Given the description of an element on the screen output the (x, y) to click on. 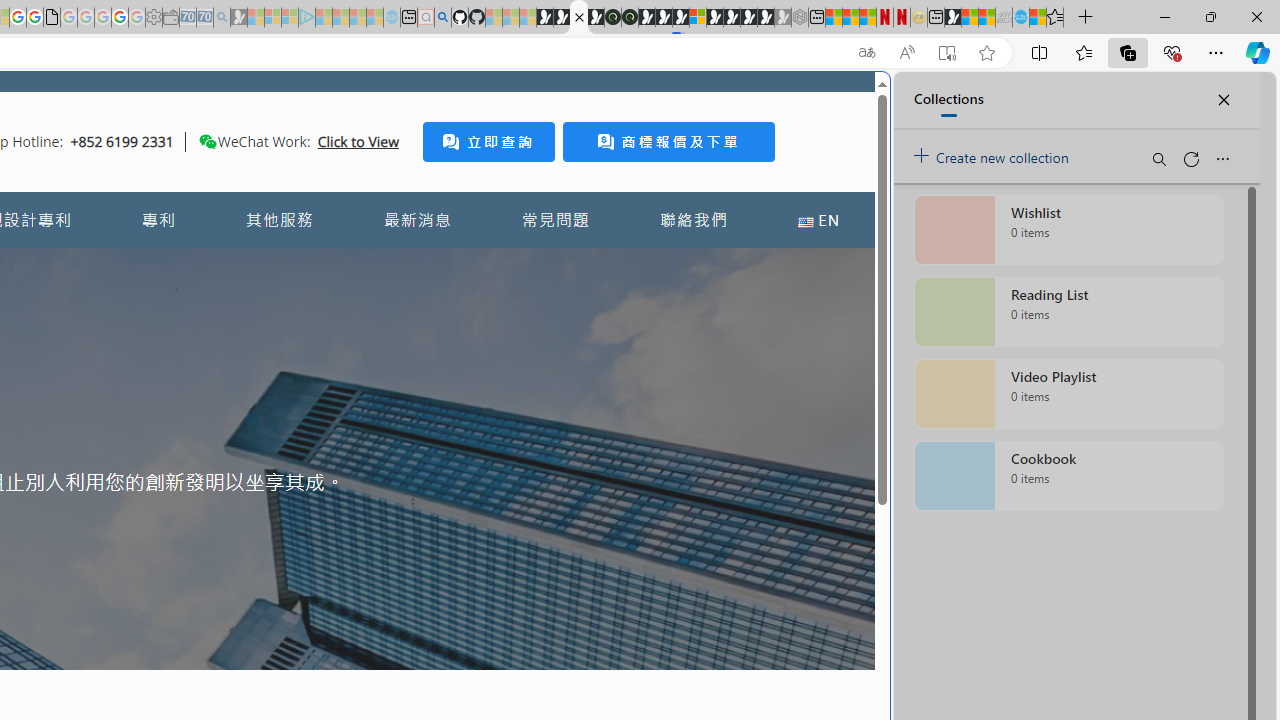
EN (818, 220)
